Given the description of an element on the screen output the (x, y) to click on. 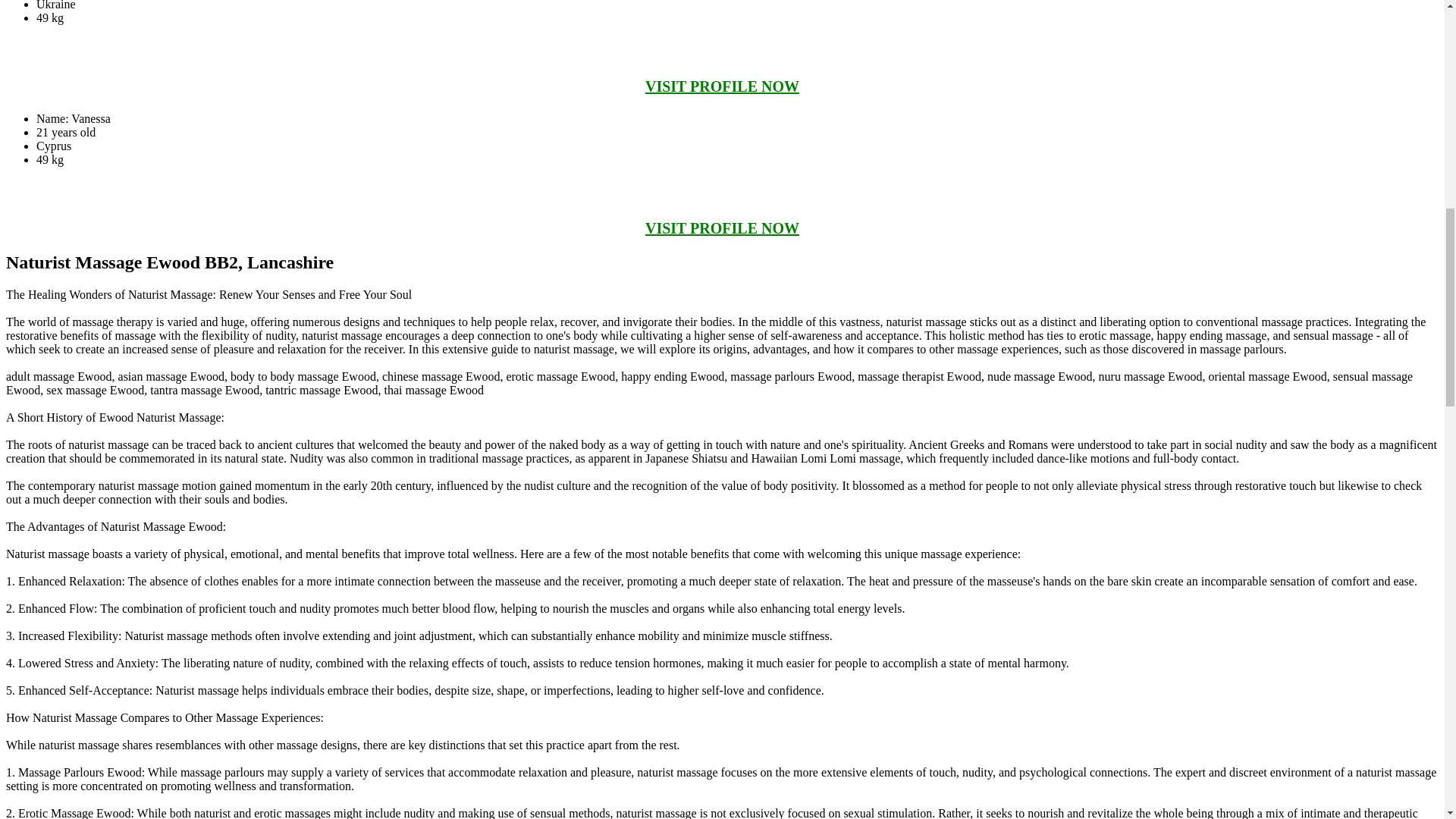
VISIT PROFILE NOW (722, 86)
VISIT PROFILE NOW (722, 228)
